Given the description of an element on the screen output the (x, y) to click on. 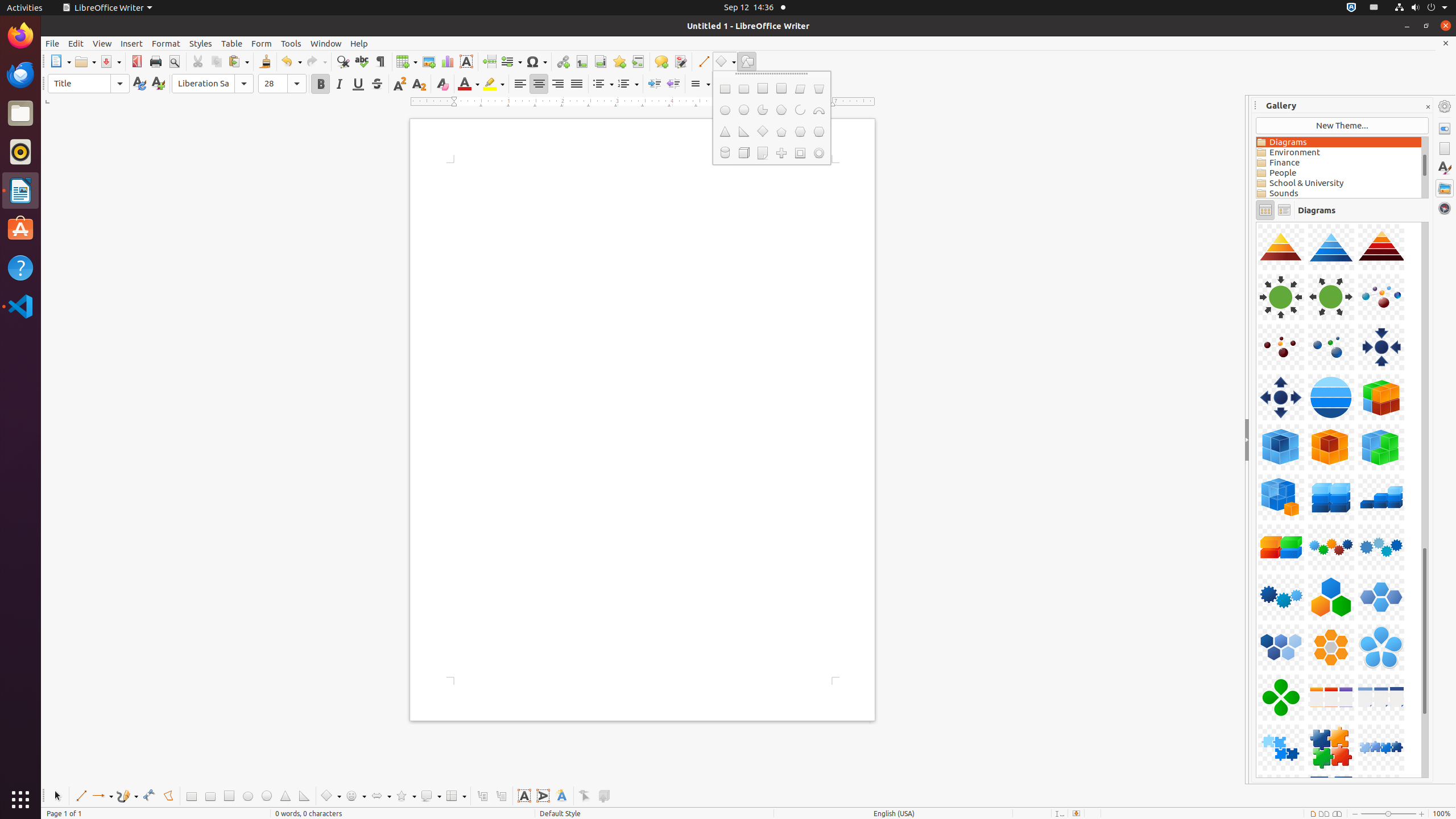
Help Element type: push-button (20, 267)
Increase Element type: push-button (721, 83)
Component-Person04-DarkRed Element type: list-item (1256, 222)
Bold Element type: toggle-button (320, 83)
Circle Segment Element type: toggle-button (780, 110)
